Given the description of an element on the screen output the (x, y) to click on. 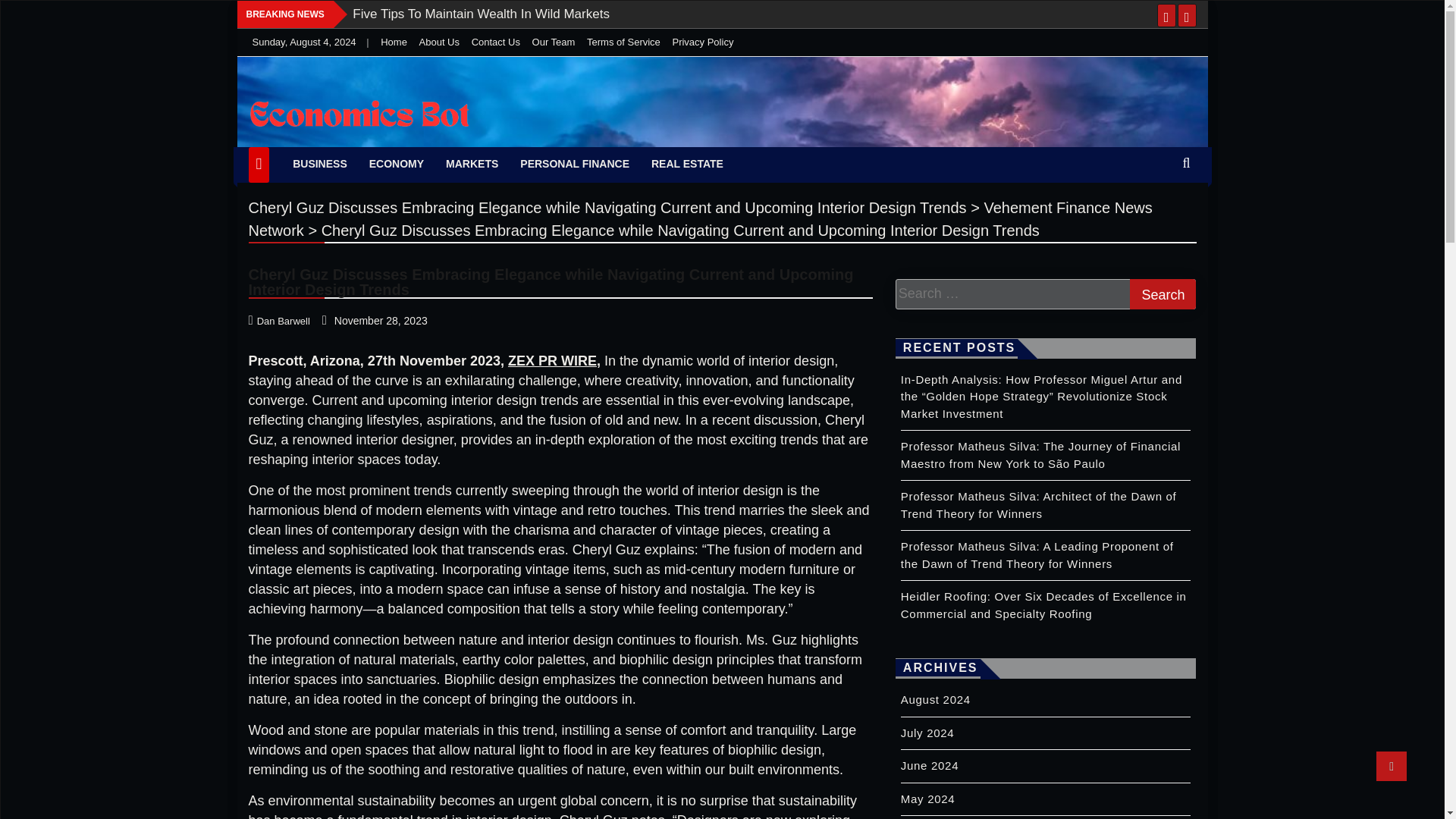
Contact Us (495, 41)
ZEX PR WIRE (552, 360)
Terms of Service (623, 41)
Home (393, 41)
PERSONAL FINANCE (574, 163)
Economics Bot (345, 143)
Dan Barwell (280, 319)
MARKETS (471, 163)
REAL ESTATE (686, 163)
Search (1162, 294)
